Given the description of an element on the screen output the (x, y) to click on. 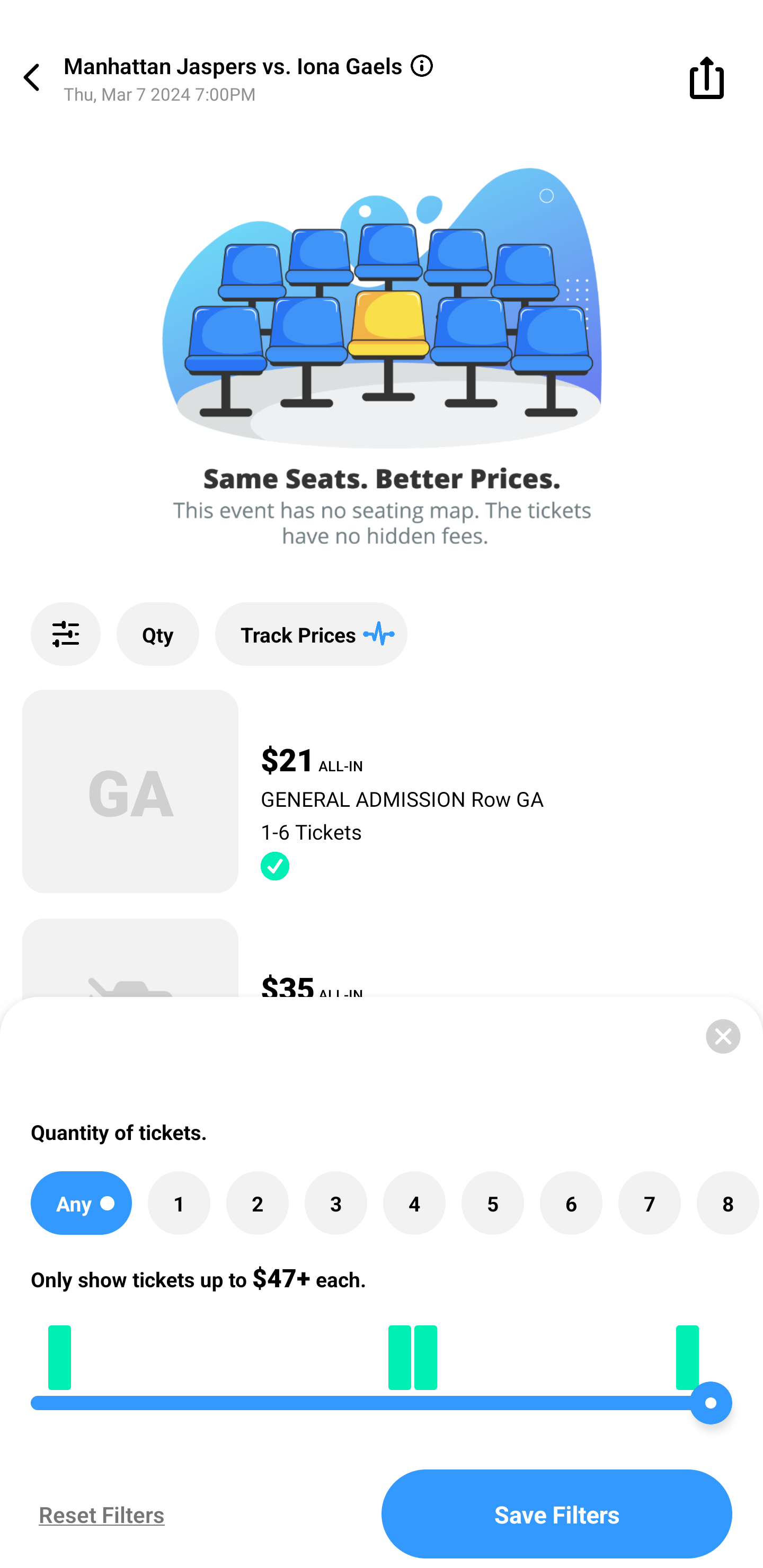
Any (80, 1203)
1 (179, 1203)
2 (257, 1203)
3 (335, 1203)
4 (414, 1203)
5 (492, 1203)
6 (571, 1203)
7 (649, 1203)
8 (727, 1203)
Save Filters (556, 1513)
Reset Filters (97, 1513)
